Given the description of an element on the screen output the (x, y) to click on. 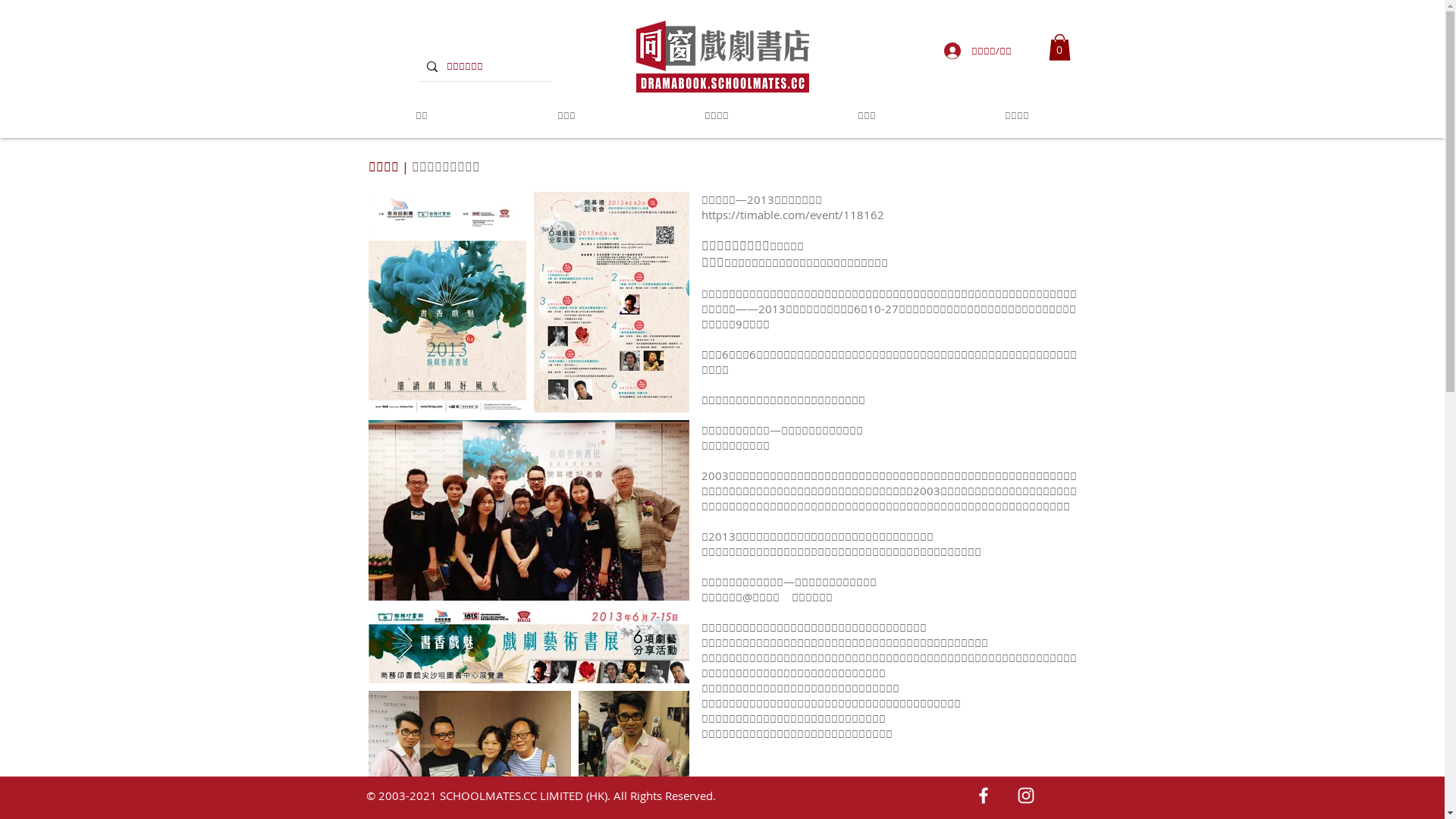
https://timable.com/event/118162 Element type: text (791, 214)
0 Element type: text (1059, 47)
